Given the description of an element on the screen output the (x, y) to click on. 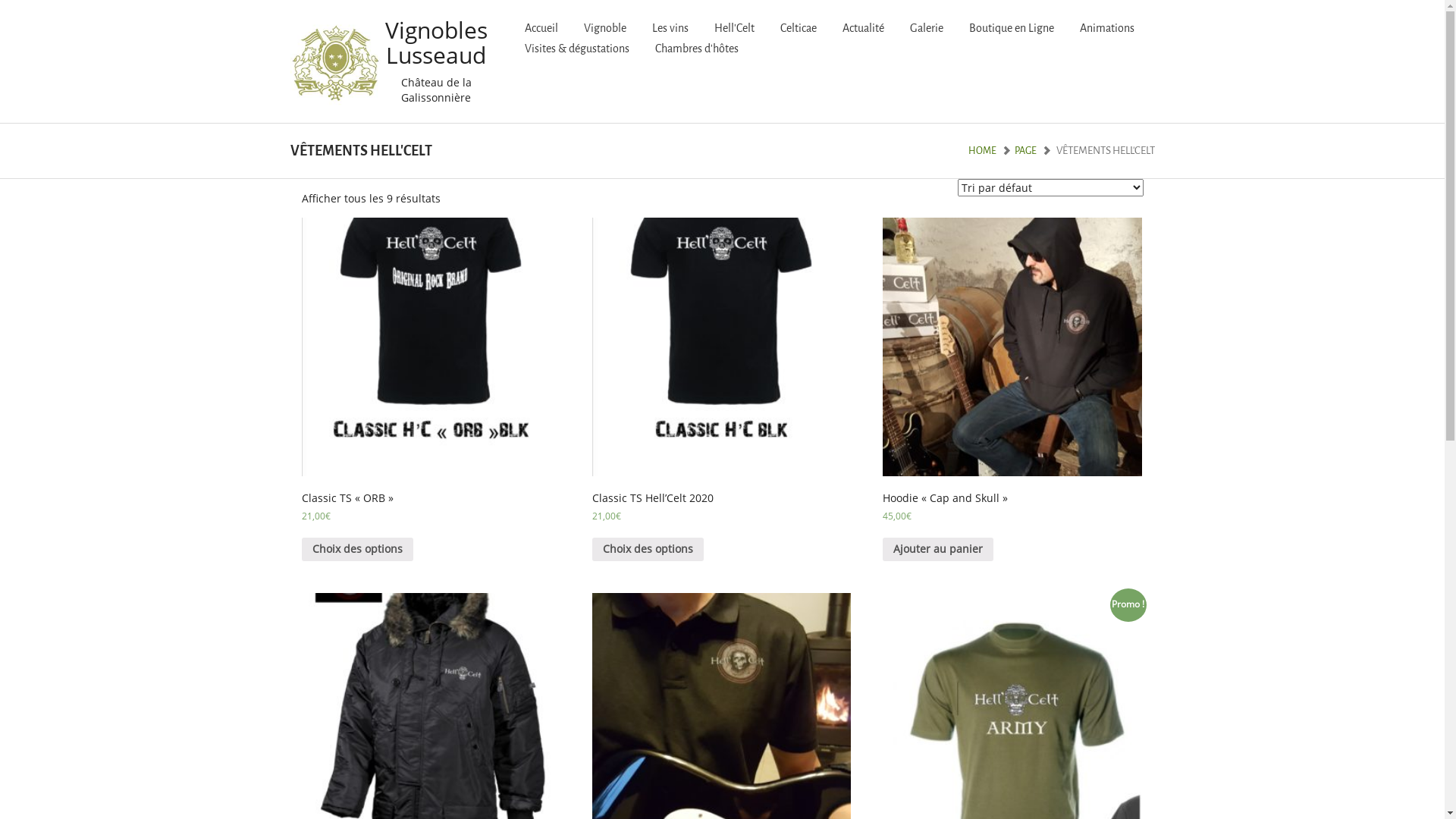
Animations Element type: text (1106, 27)
Choix des options Element type: text (647, 549)
HOME Element type: text (981, 150)
Vignoble Element type: text (604, 27)
Celticae Element type: text (798, 27)
Vignobles Lusseaud Element type: text (389, 42)
Choix des options Element type: text (357, 549)
Galerie Element type: text (926, 27)
Les vins Element type: text (670, 27)
Boutique en Ligne Element type: text (1011, 27)
PAGE Element type: text (1025, 150)
Ajouter au panier Element type: text (937, 549)
Accueil Element type: text (541, 27)
